Given the description of an element on the screen output the (x, y) to click on. 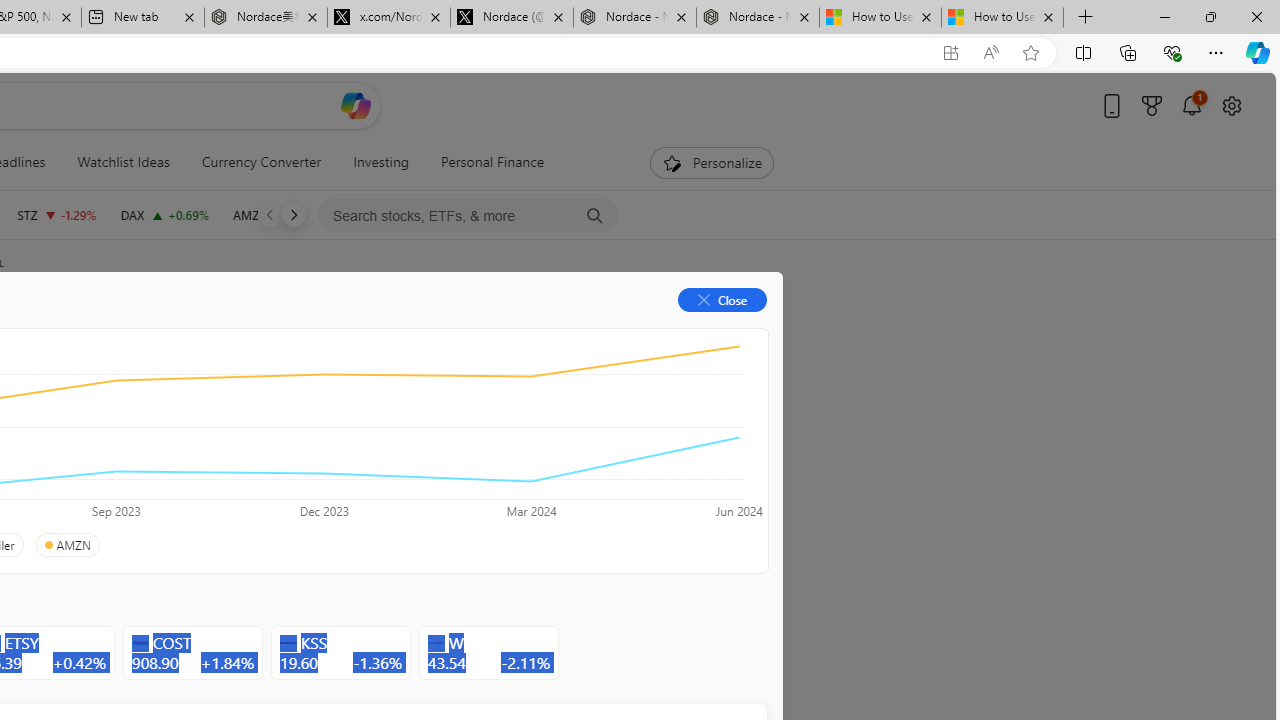
Investors (495, 331)
Options (693, 331)
Previous (269, 214)
Notifications (1192, 105)
Nordace (@NordaceOfficial) / X (511, 17)
Currency Converter (261, 162)
Sentiment (595, 331)
Personalize (711, 162)
Watchlist Ideas (123, 162)
